Given the description of an element on the screen output the (x, y) to click on. 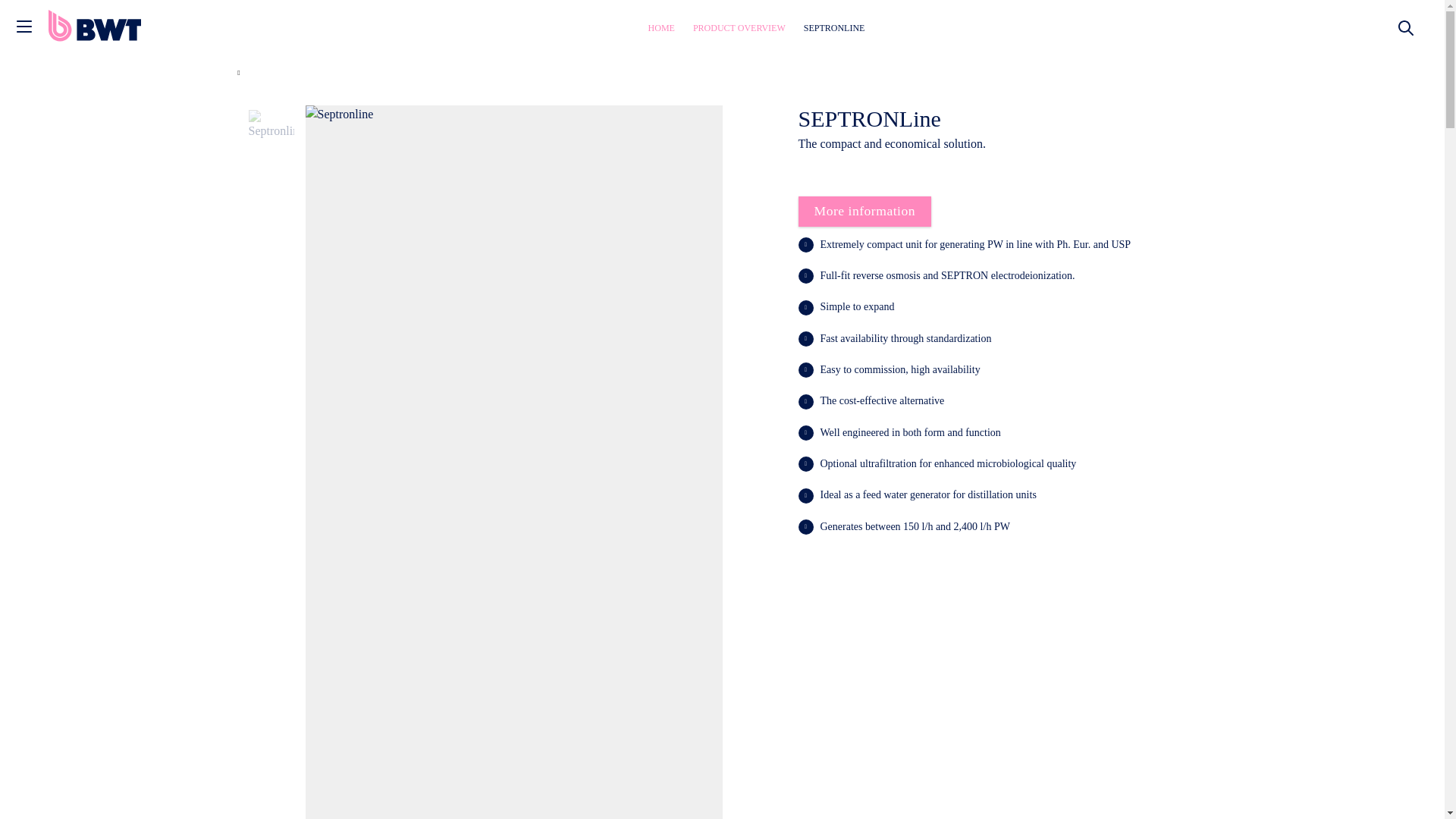
More information (864, 211)
HOME (661, 28)
SEPTRONLINE (833, 28)
PRODUCT OVERVIEW (739, 28)
